Given the description of an element on the screen output the (x, y) to click on. 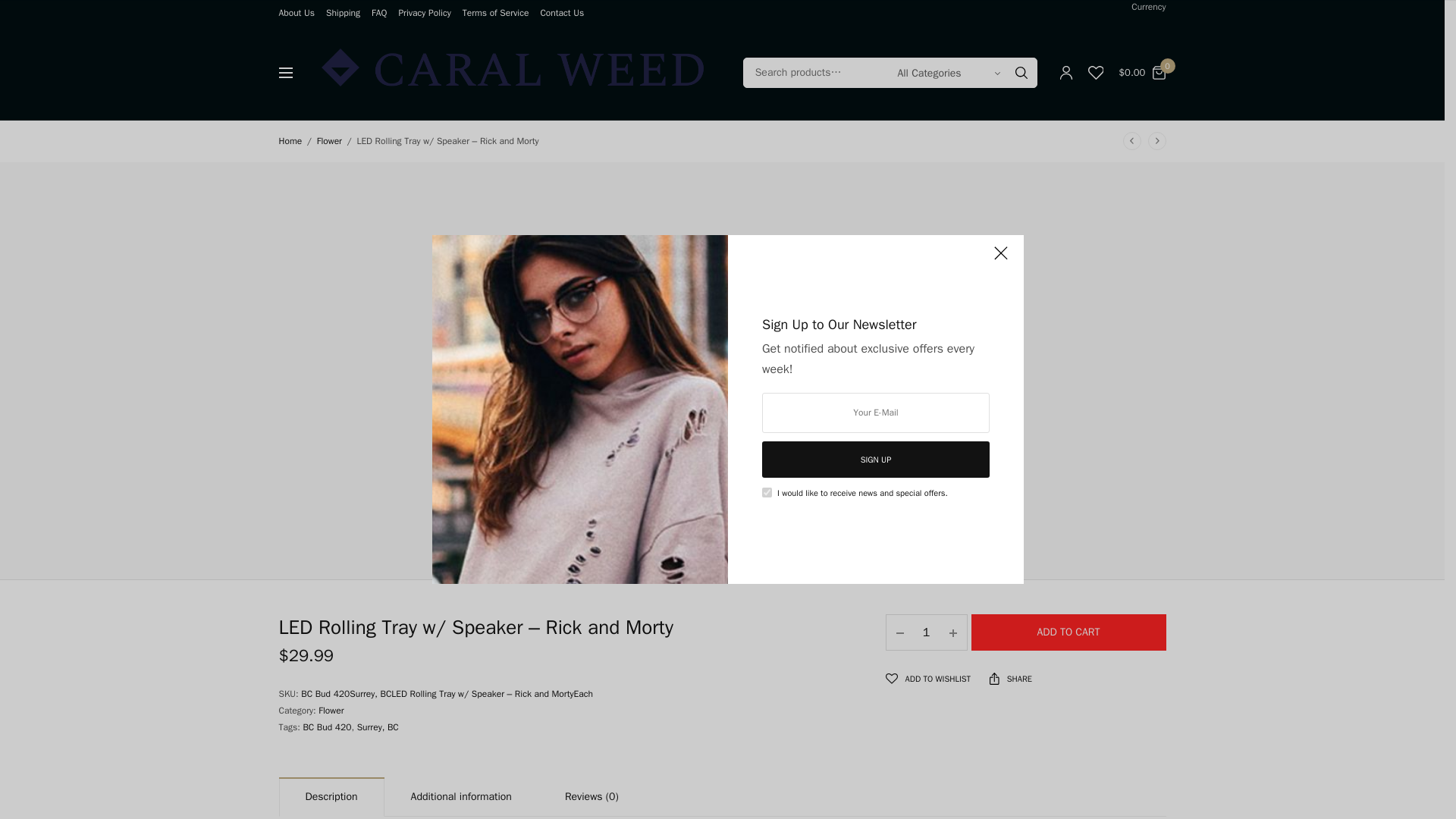
Shipping (342, 12)
on (766, 492)
SHARE (1011, 678)
ADD TO WISHLIST (928, 678)
About Us (296, 12)
SIGN UP (875, 459)
Contact Us (561, 12)
ADD TO CART (1068, 632)
BC Bud 420 (326, 727)
Description (331, 797)
Additional information (461, 797)
Flower (329, 141)
Home (290, 141)
Privacy Policy (423, 12)
